Given the description of an element on the screen output the (x, y) to click on. 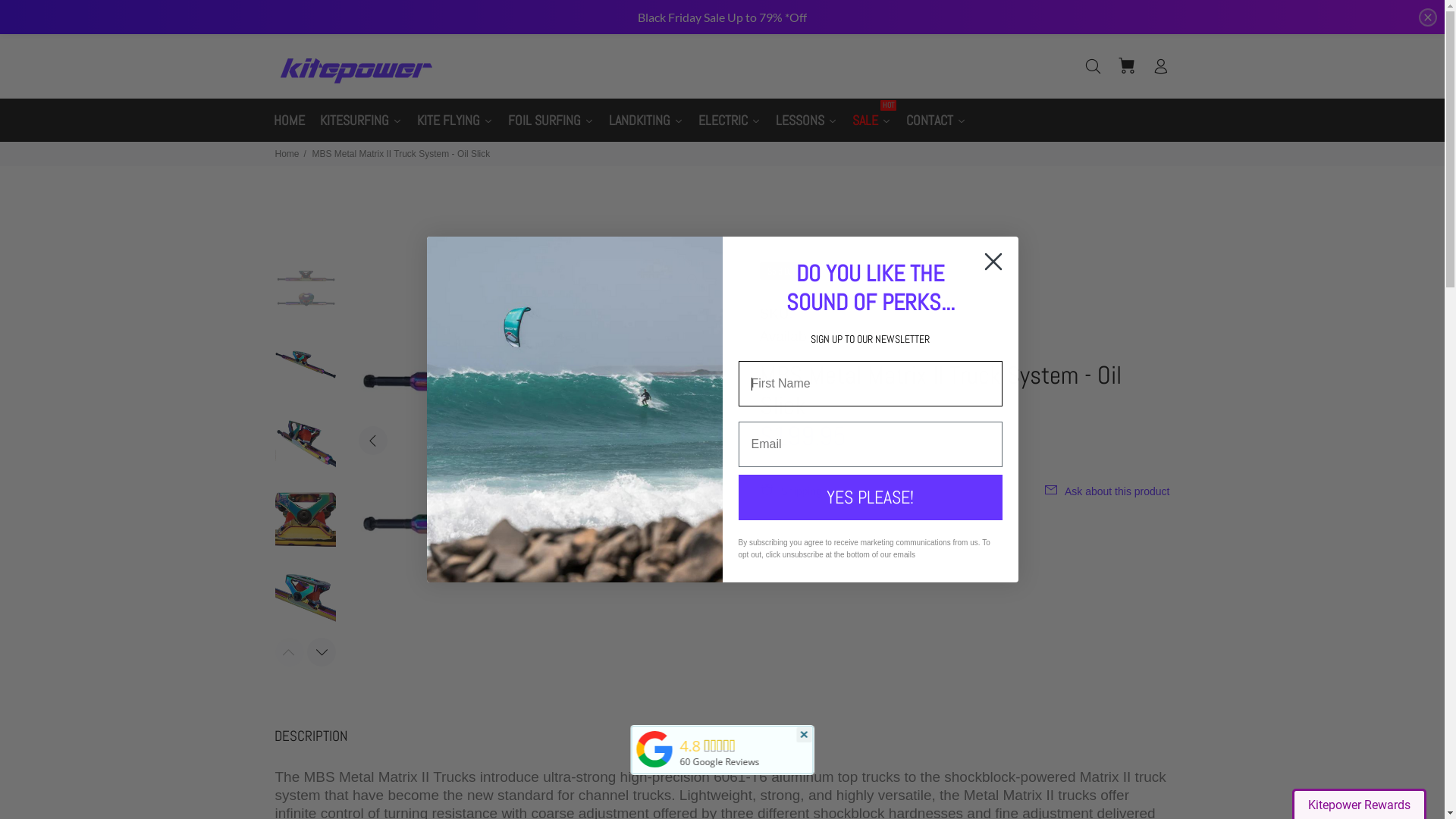
Next Element type: text (691, 440)
Kitepower Australia Element type: hover (654, 766)
SALE
HOT Element type: text (871, 119)
KITESURFING Element type: text (360, 119)
Ask about this product Element type: text (1102, 491)
ELECTRIC Element type: text (728, 119)
Home Element type: text (286, 153)
Previous Element type: text (288, 651)
HOME Element type: text (288, 119)
LESSONS Element type: text (805, 119)
Previous Element type: text (372, 440)
Shipping Element type: text (795, 491)
CONTACT Element type: text (934, 119)
Submit Element type: text (25, 9)
LANDKITING Element type: text (645, 119)
FOIL SURFING Element type: text (550, 119)
DESCRIPTION Element type: text (310, 735)
Send Element type: text (926, 404)
Next Element type: text (320, 651)
KITE FLYING Element type: text (454, 119)
60 Google Reviews Element type: text (719, 759)
YES PLEASE! Element type: text (870, 497)
